Given the description of an element on the screen output the (x, y) to click on. 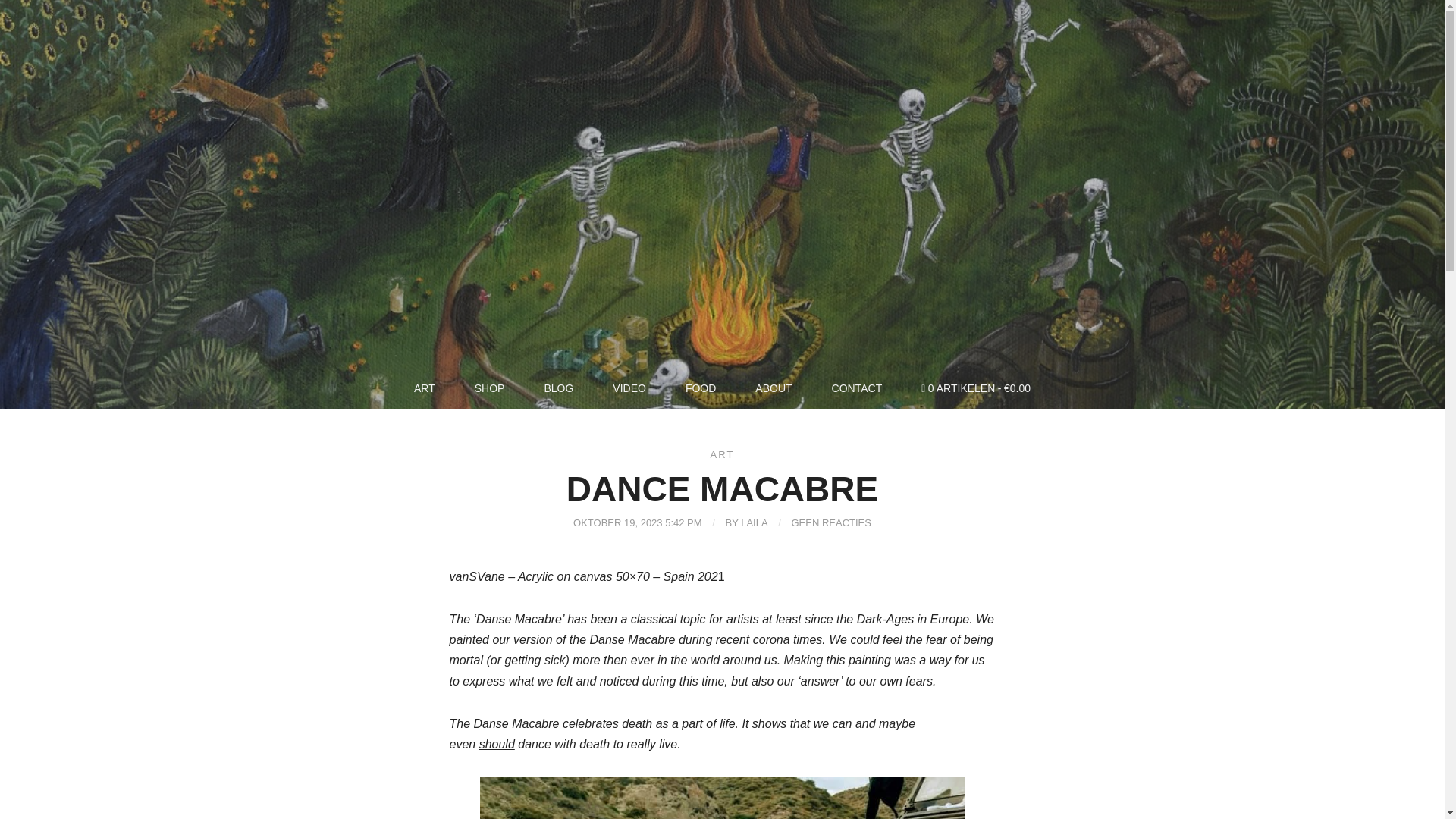
LAILA (754, 522)
OKTOBER 19, 2023 5:42 PM (637, 522)
VIDEO (628, 387)
FOOD (700, 387)
GEEN REACTIES (831, 522)
Berichten van Laila (754, 522)
Naar de winkel (975, 388)
ART (423, 387)
ABOUT (772, 387)
CONTACT (857, 387)
Permalink to DANCE MACABRE (637, 522)
BLOG (558, 387)
SHOP (489, 387)
ART (722, 454)
